Given the description of an element on the screen output the (x, y) to click on. 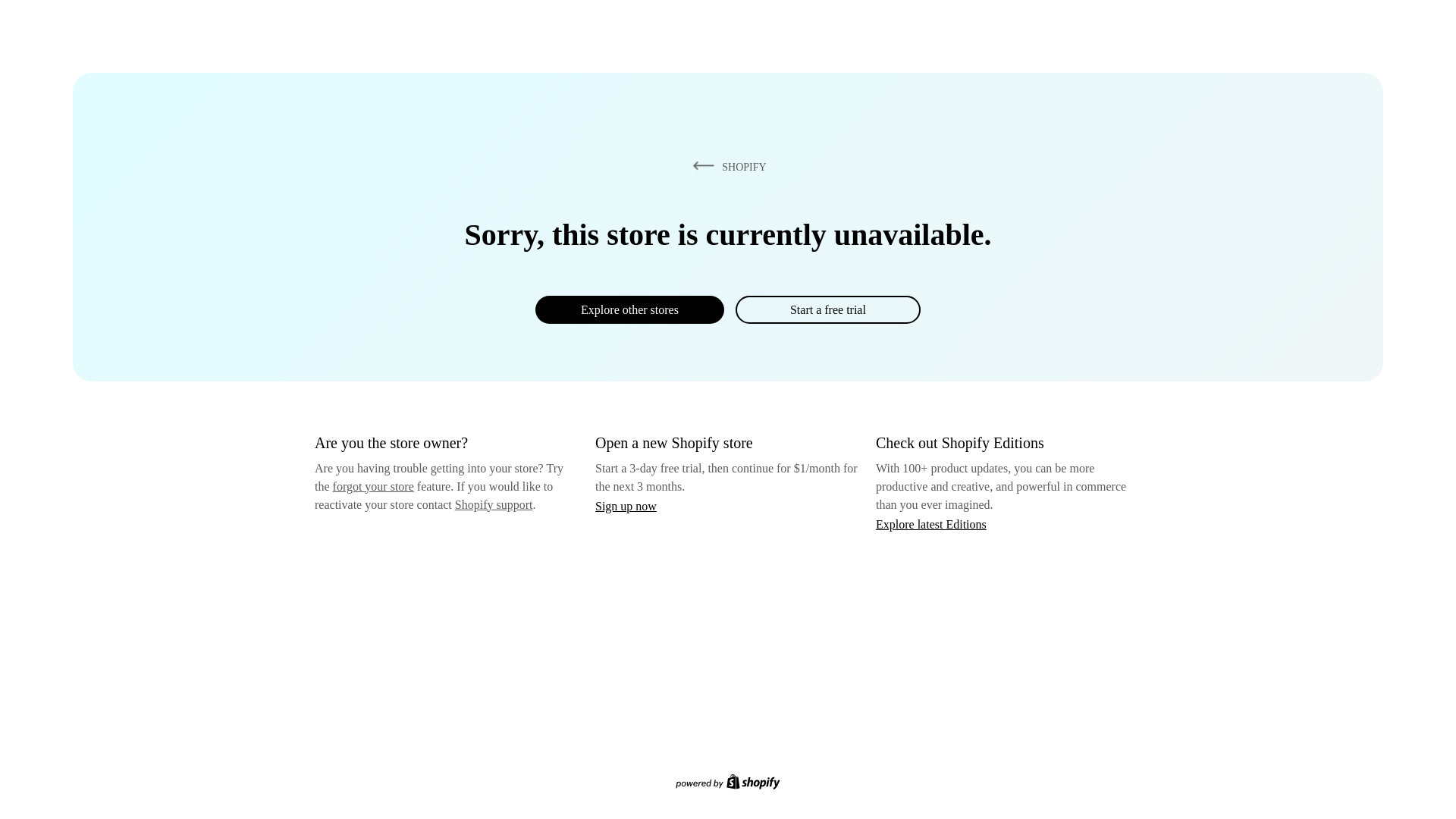
forgot your store (373, 486)
SHOPIFY (726, 166)
Explore other stores (629, 309)
Sign up now (625, 505)
Start a free trial (827, 309)
Shopify support (493, 504)
Explore latest Editions (931, 523)
